Given the description of an element on the screen output the (x, y) to click on. 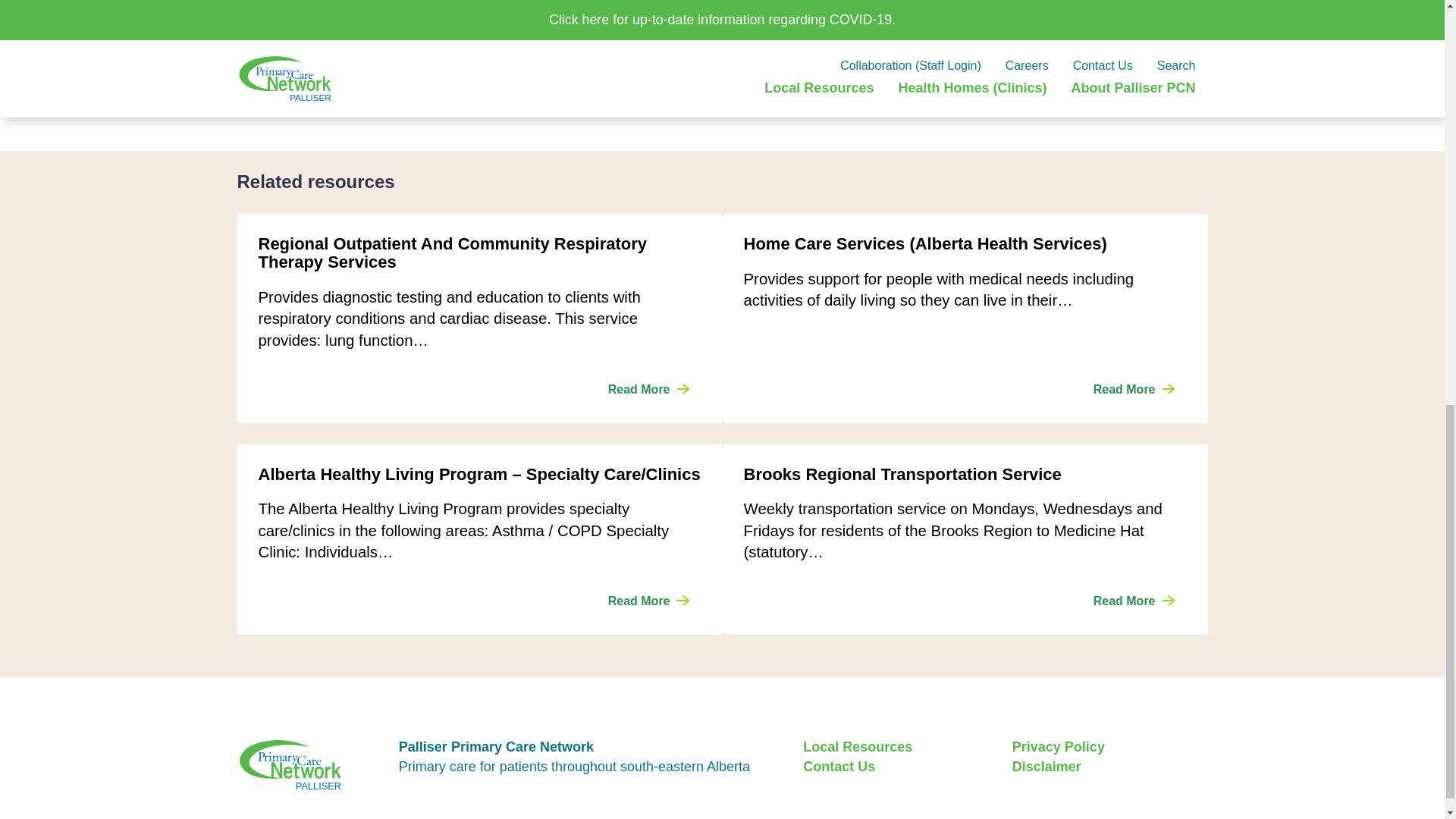
Contact Us (839, 766)
Local Resources (857, 746)
Read More (1133, 600)
Read More (648, 389)
Privacy Policy (1058, 746)
Disclaimer (1046, 766)
Brooks Regional Transportation Service (1133, 600)
Read More (648, 600)
Palliser Primary Care Network (338, 764)
